Given the description of an element on the screen output the (x, y) to click on. 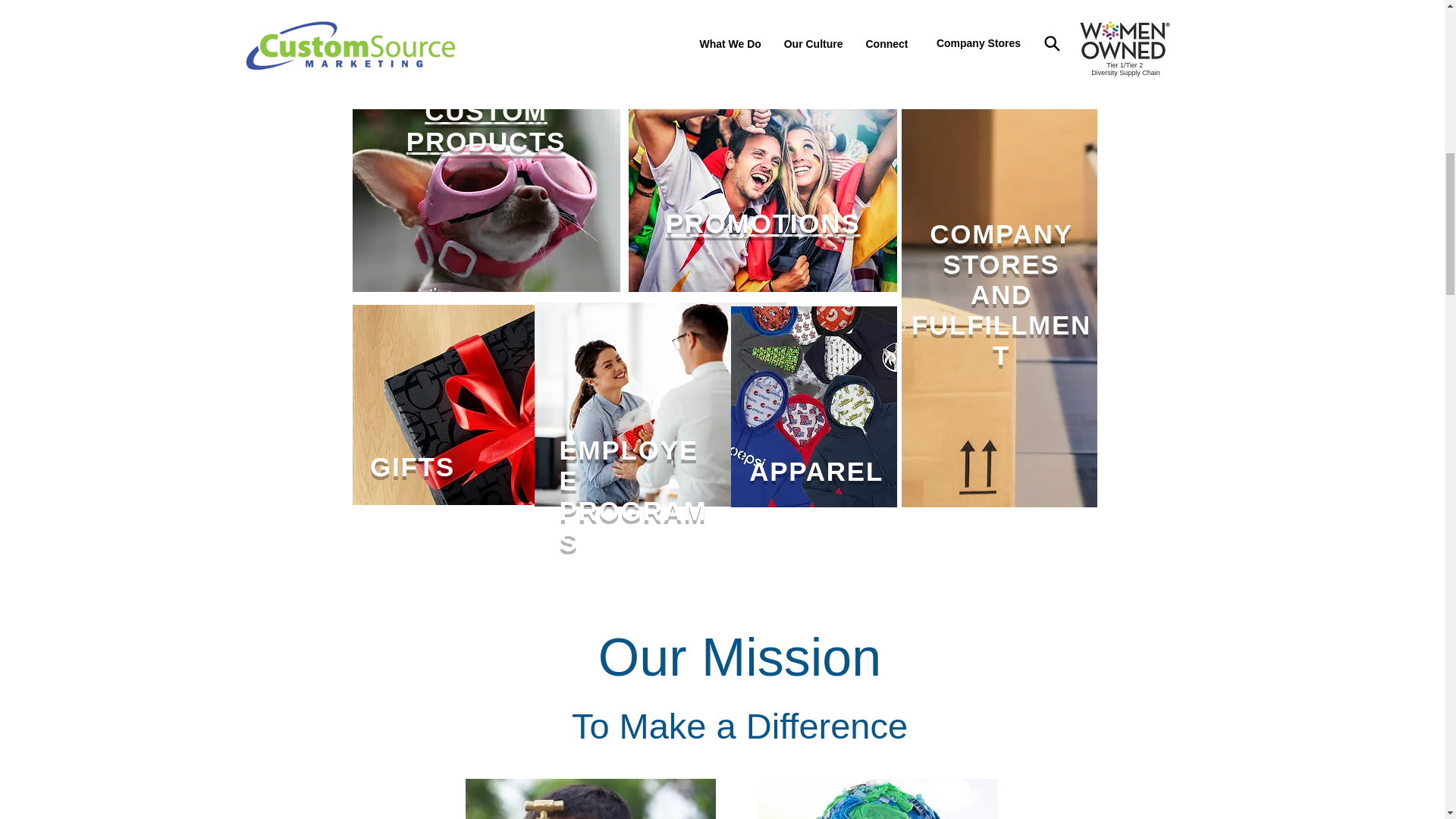
Planet Made of Plastic (1000, 294)
giftboxnewbackground.jpg (877, 798)
 APPAREL (443, 404)
CUSTOM PRODUCTS (812, 471)
Custom Products (486, 126)
 GIFTS (486, 188)
PROMOTIONS (407, 466)
EMPLOYEE PROGRAMS (762, 238)
Employee retention new photo revised.jpg (633, 495)
